Given the description of an element on the screen output the (x, y) to click on. 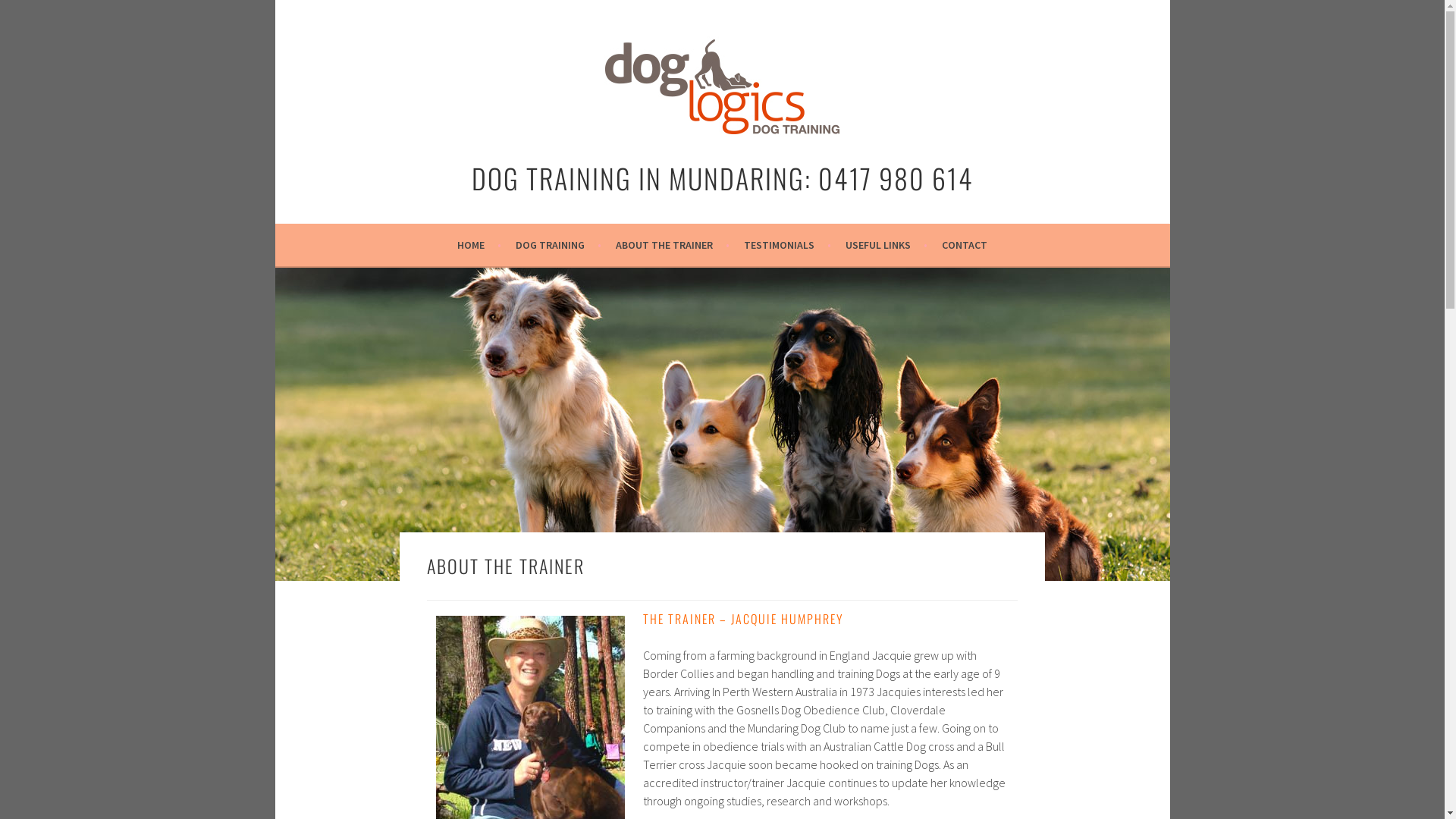
TESTIMONIALS Element type: text (787, 244)
CONTACT Element type: text (964, 244)
DOG TRAINING Element type: text (558, 244)
USEFUL LINKS Element type: text (886, 244)
ABOUT THE TRAINER Element type: text (672, 244)
HOME Element type: text (479, 244)
DOG TRAINING IN MUNDARING: 0417 980 614 Element type: text (722, 177)
